Given the description of an element on the screen output the (x, y) to click on. 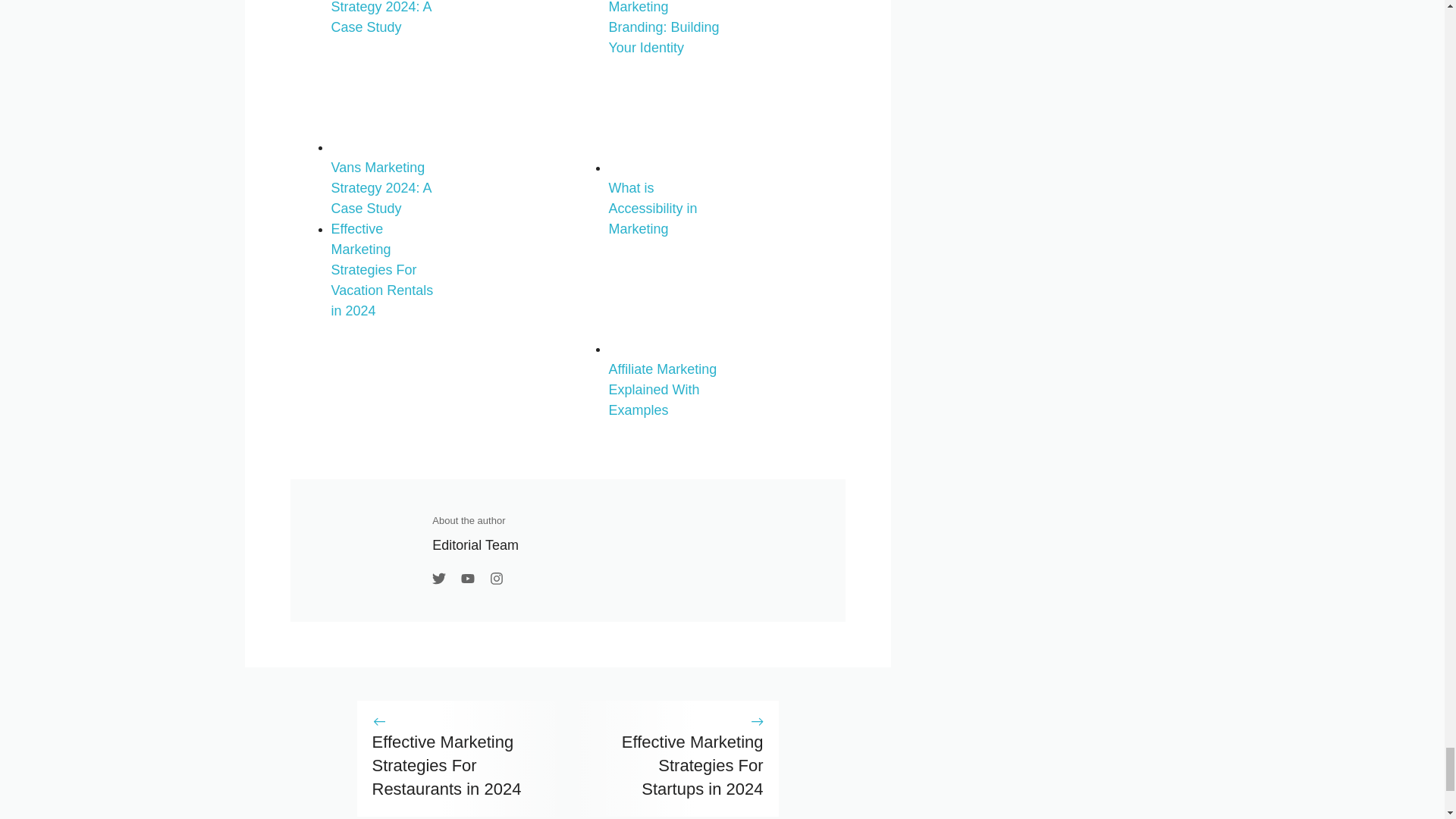
What is Accessibility in Marketing (665, 197)
Vans Marketing Strategy 2024: A Case Study (387, 177)
Effective Marketing Strategies For Restaurants in 2024 (446, 765)
Affiliate Marketing Explained With Examples (665, 379)
Marketing Branding: Building Your Identity (665, 27)
Effective Marketing Strategies For Vacation Rentals in 2024 (381, 269)
Effective Marketing Strategies For Startups in 2024 (691, 765)
